Given the description of an element on the screen output the (x, y) to click on. 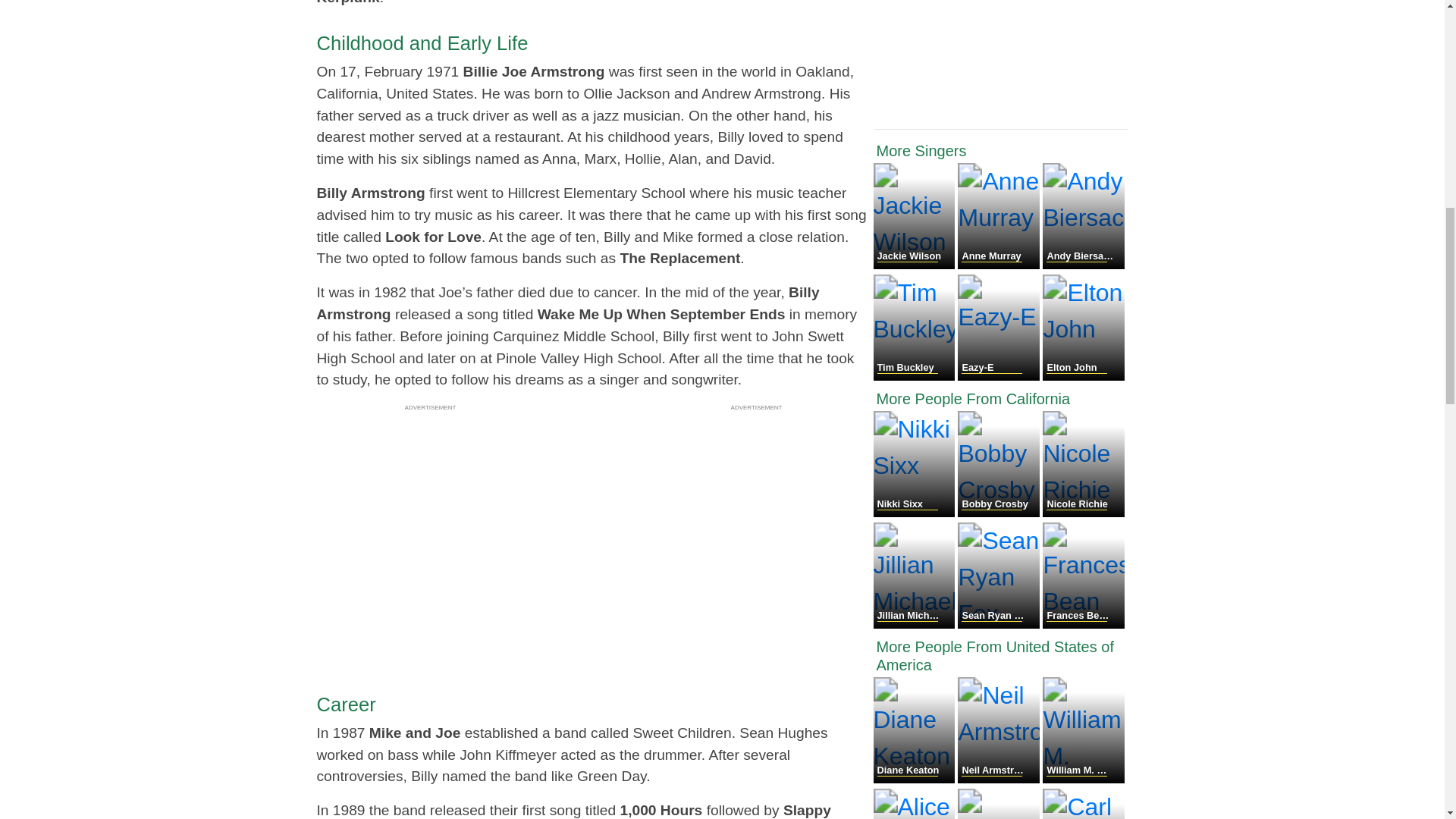
Neil Armstrong (1000, 779)
More Singers (1000, 150)
Elton John (1083, 376)
Eazy-E (1000, 376)
Andy Biersack (1083, 264)
Tim Buckley (915, 376)
Anne Murray (1000, 264)
Frances Bean Cobain (1083, 624)
Jillian Michaels (915, 624)
William M. Branham (1083, 779)
Nicole Richie (1083, 512)
Jackie Wilson (915, 264)
Sean Ryan Fox (1000, 624)
More People From United States of America (1000, 656)
More People From California (1000, 398)
